Given the description of an element on the screen output the (x, y) to click on. 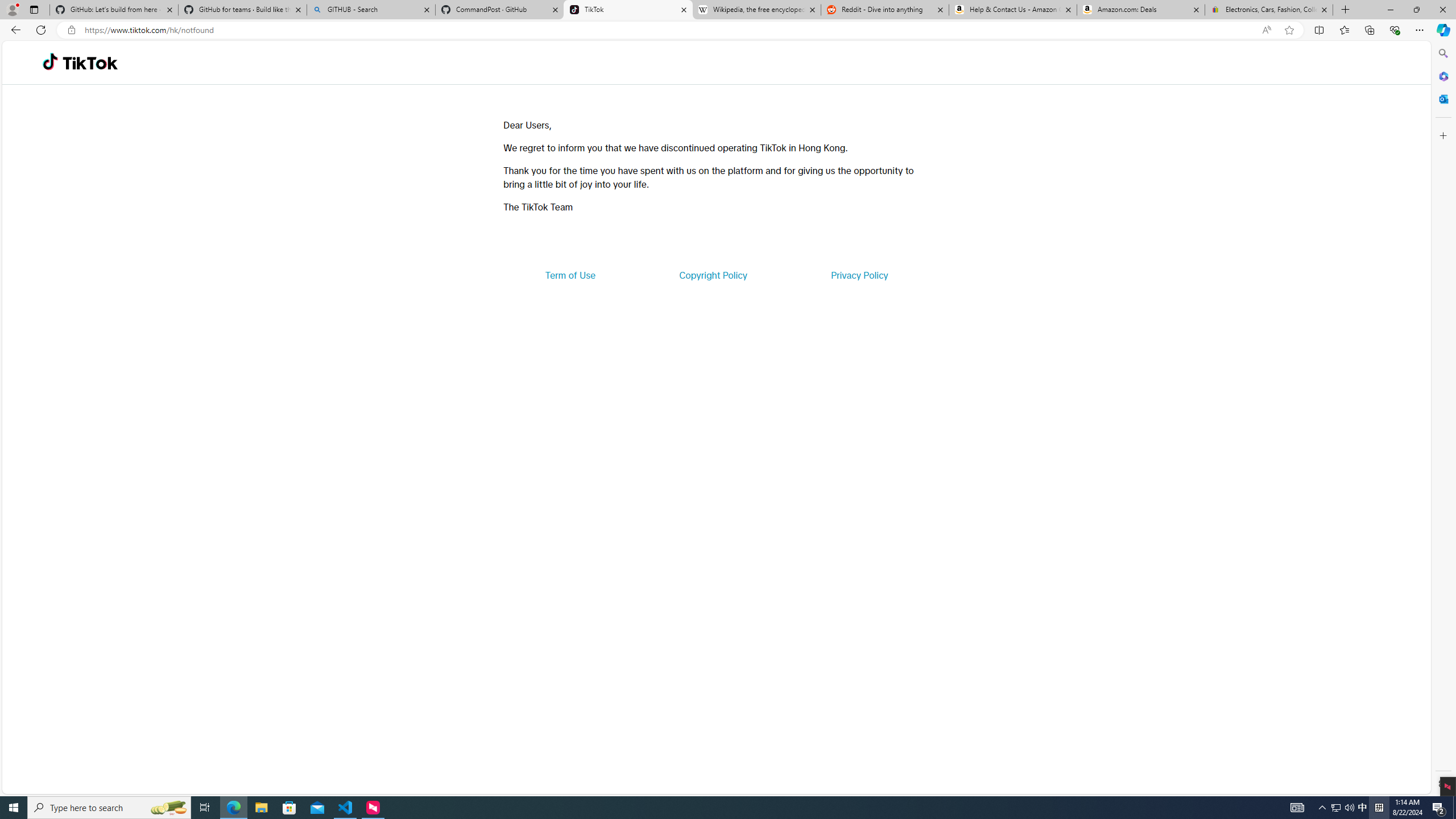
GITHUB - Search (370, 9)
Copyright Policy (712, 274)
Help & Contact Us - Amazon Customer Service (1012, 9)
Amazon.com: Deals (1140, 9)
Electronics, Cars, Fashion, Collectibles & More | eBay (1268, 9)
